Given the description of an element on the screen output the (x, y) to click on. 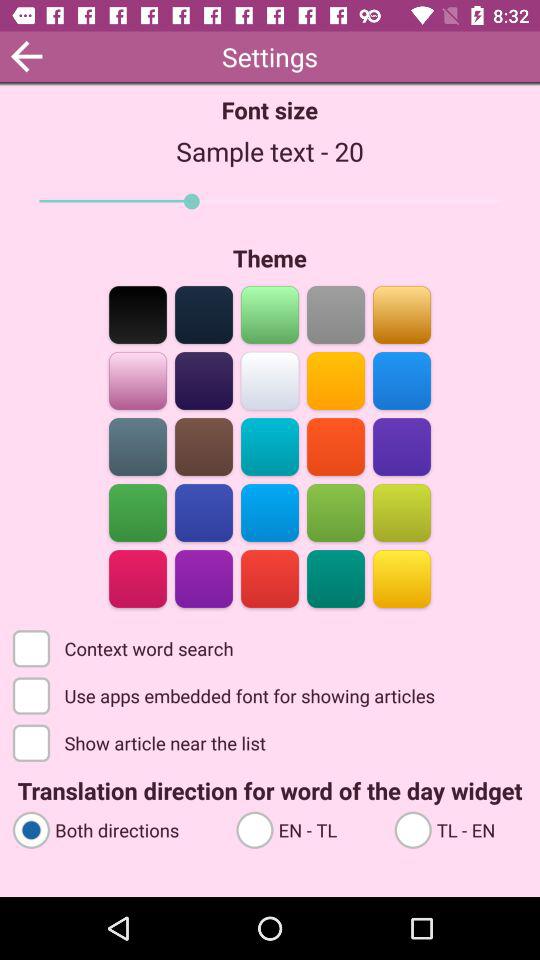
select color (401, 577)
